Given the description of an element on the screen output the (x, y) to click on. 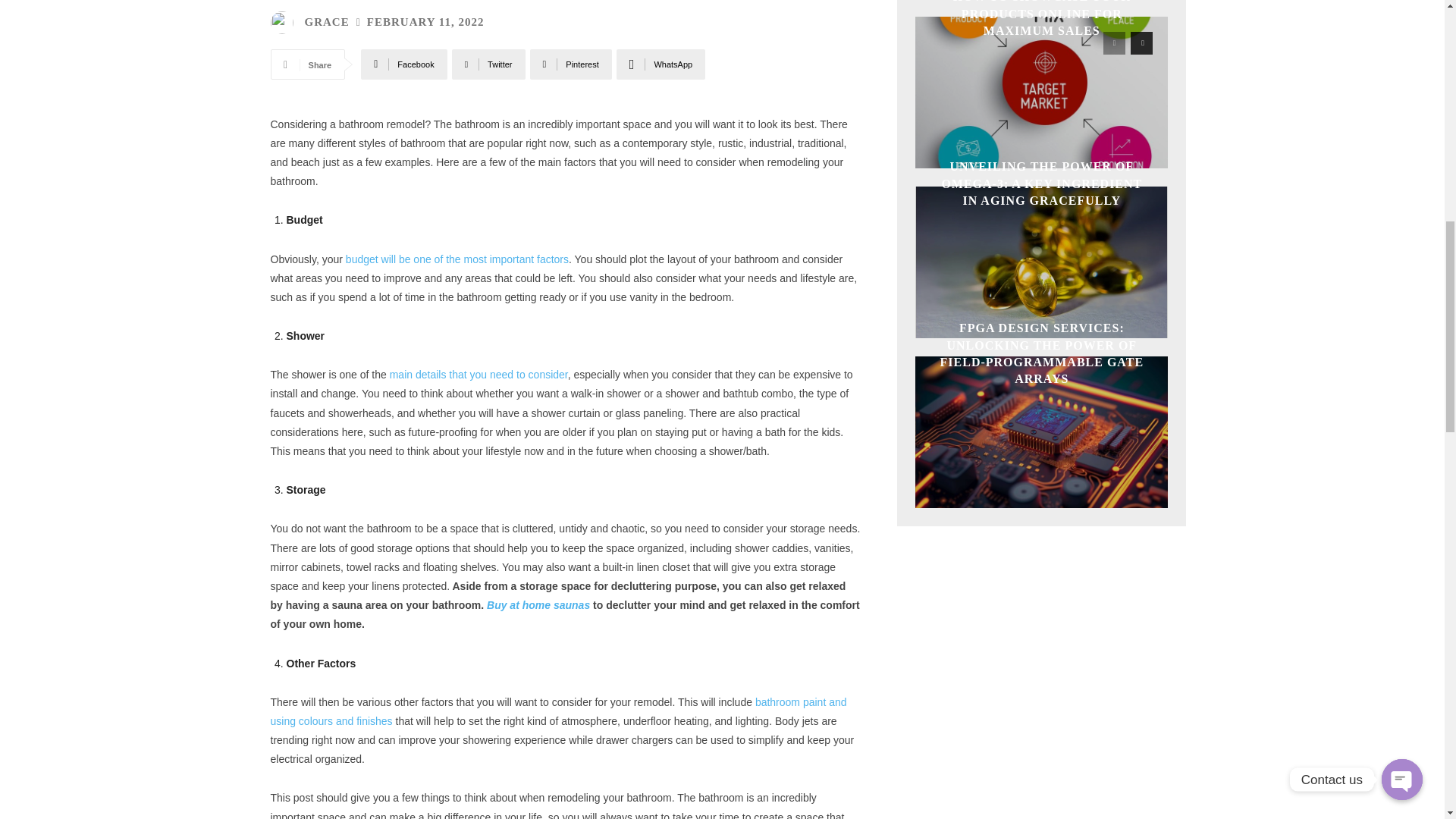
Facebook (403, 64)
WhatsApp (659, 64)
Pinterest (570, 64)
Twitter (488, 64)
Grace (284, 22)
